Given the description of an element on the screen output the (x, y) to click on. 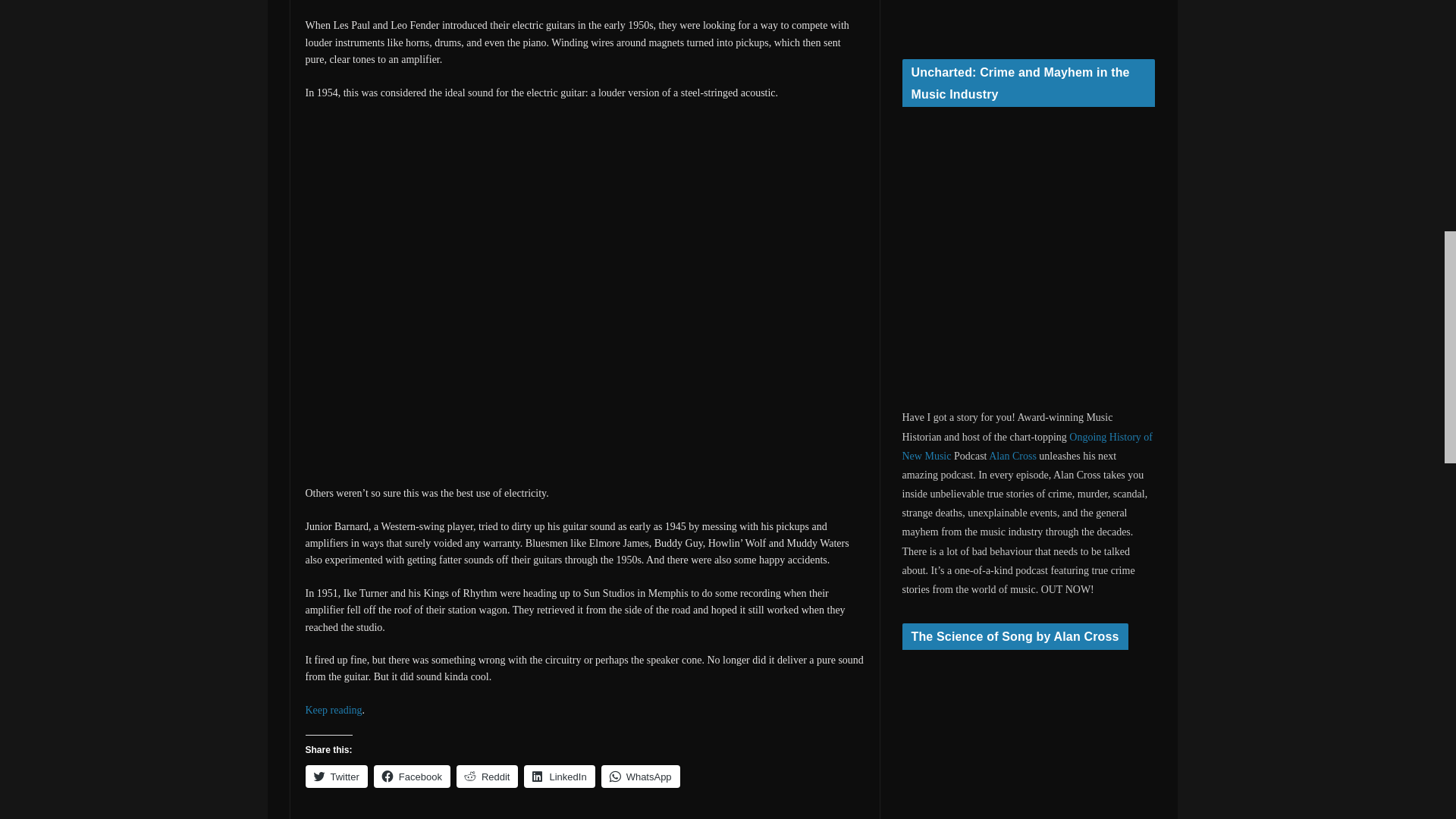
Click to share on Facebook (411, 775)
Keep reading (332, 709)
Click to share on Twitter (335, 775)
LinkedIn (559, 775)
Twitter (335, 775)
Click to share on WhatsApp (640, 775)
Click to share on Reddit (487, 775)
Reddit (487, 775)
WhatsApp (640, 775)
Facebook (411, 775)
